Given the description of an element on the screen output the (x, y) to click on. 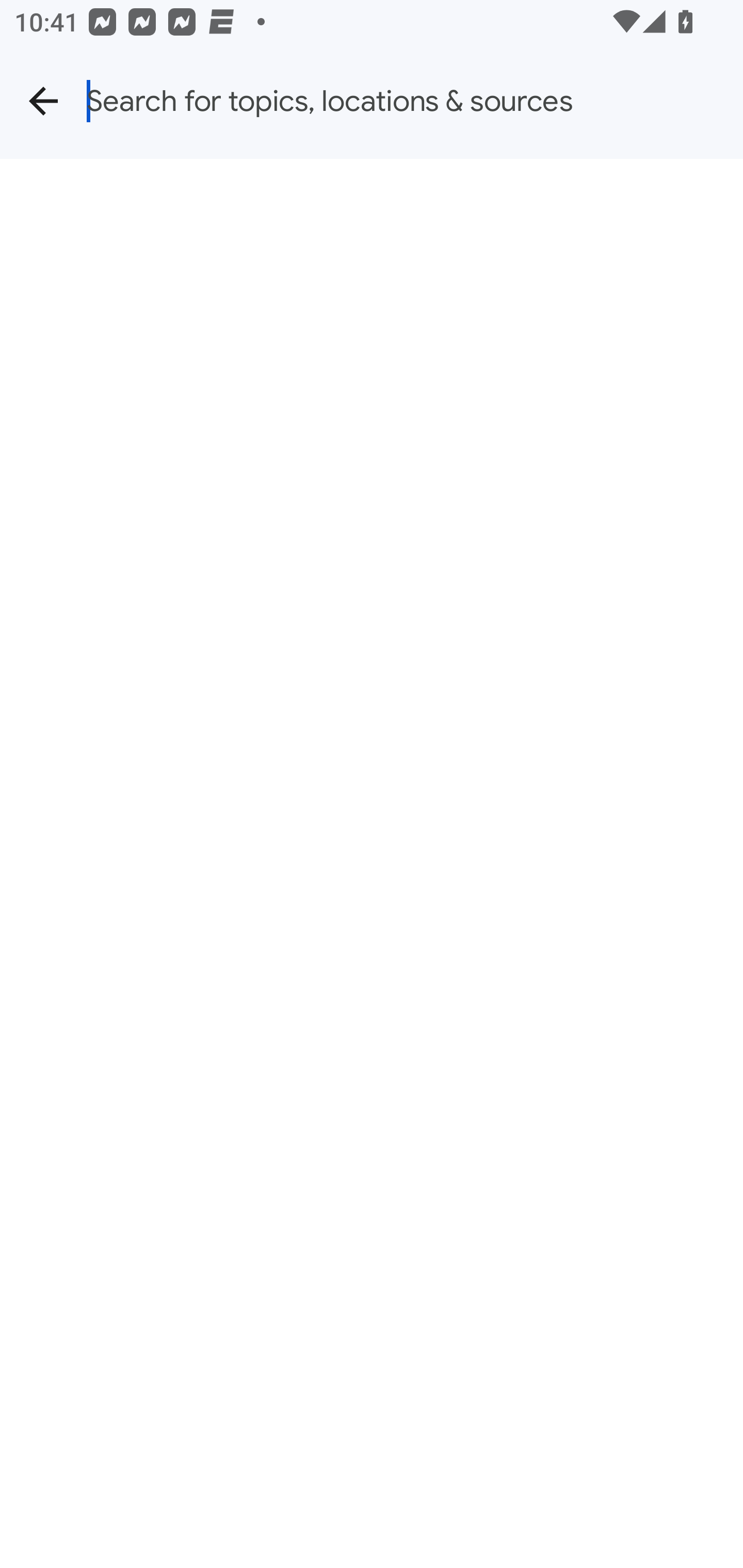
Back (43, 101)
Search for topics, locations & sources (414, 101)
